Given the description of an element on the screen output the (x, y) to click on. 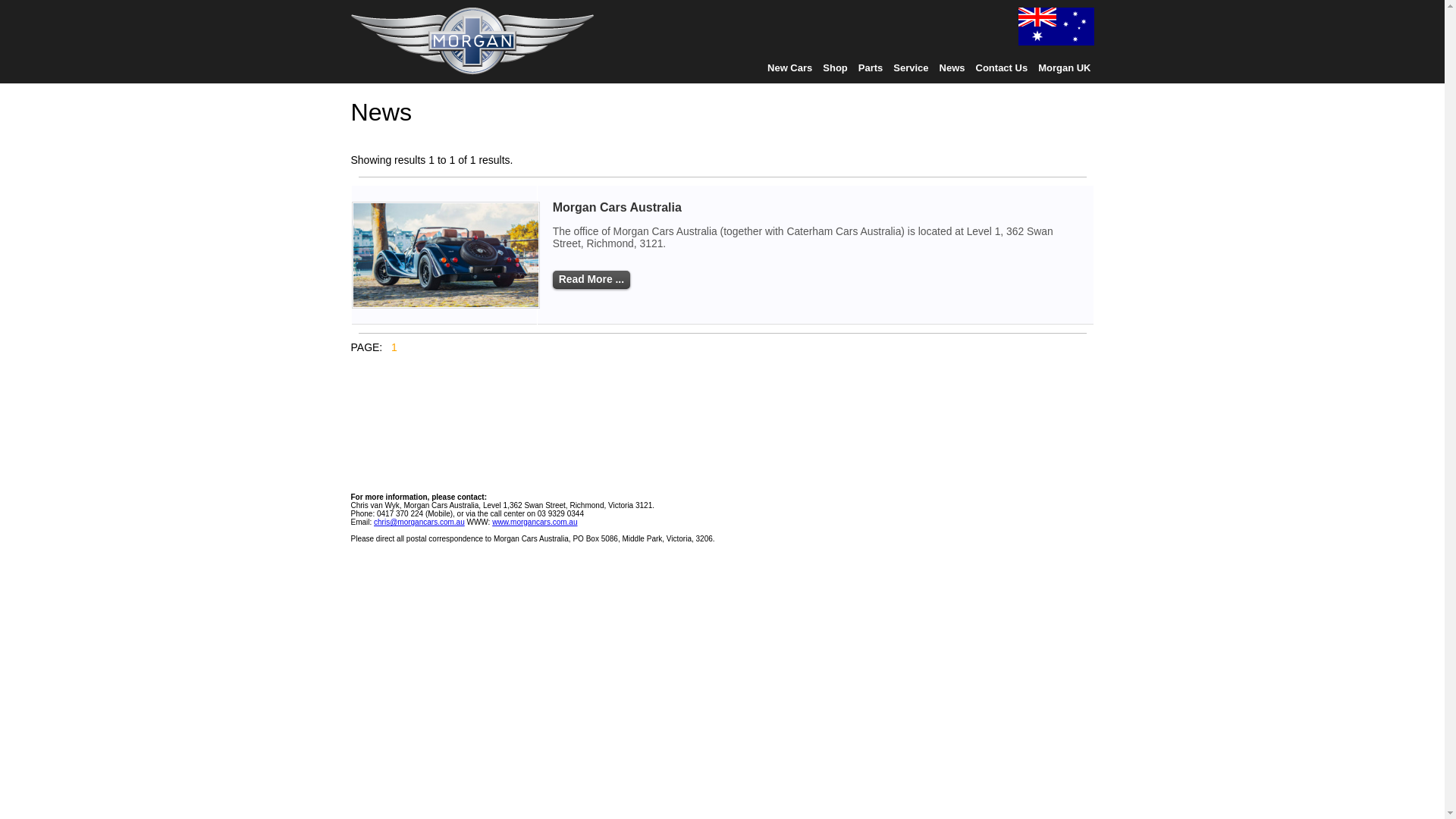
New Cars Element type: text (789, 68)
Read More ... Element type: text (591, 279)
www.morgancars.com.au Element type: text (534, 521)
Morgan UK Element type: text (1064, 68)
Morgan Cars Australia Element type: text (616, 206)
Contact Us Element type: text (1001, 68)
chris@morgancars.com.au Element type: text (418, 521)
Parts Element type: text (870, 68)
News Element type: text (952, 68)
Service Element type: text (910, 68)
Shop Element type: text (834, 68)
